Given the description of an element on the screen output the (x, y) to click on. 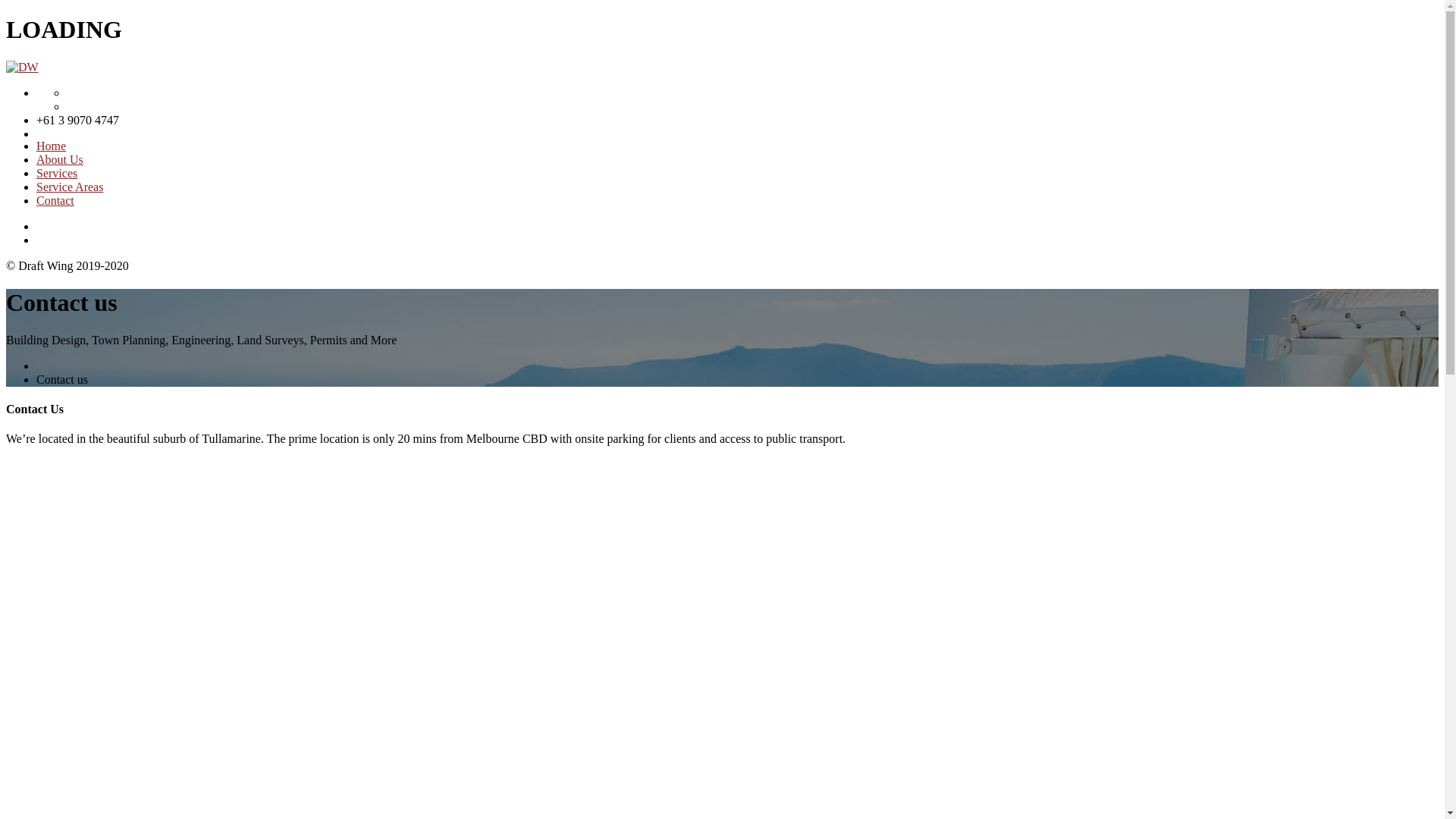
Contact Element type: text (55, 200)
Home Element type: text (50, 145)
About Us Element type: text (59, 159)
Service Areas Element type: text (69, 186)
Services Element type: text (56, 172)
